Given the description of an element on the screen output the (x, y) to click on. 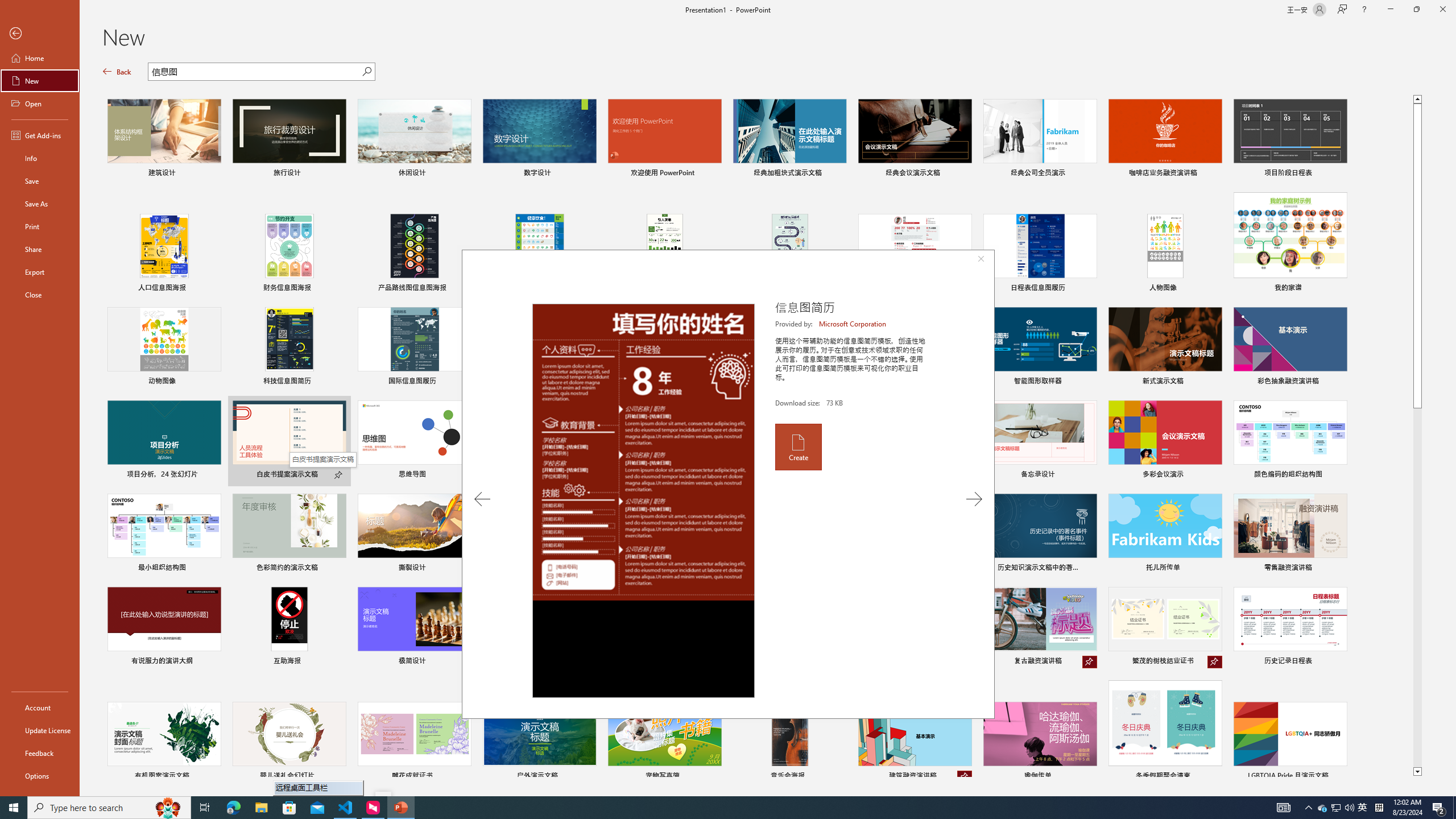
Update License (40, 730)
Options (40, 775)
Preview (643, 500)
